Given the description of an element on the screen output the (x, y) to click on. 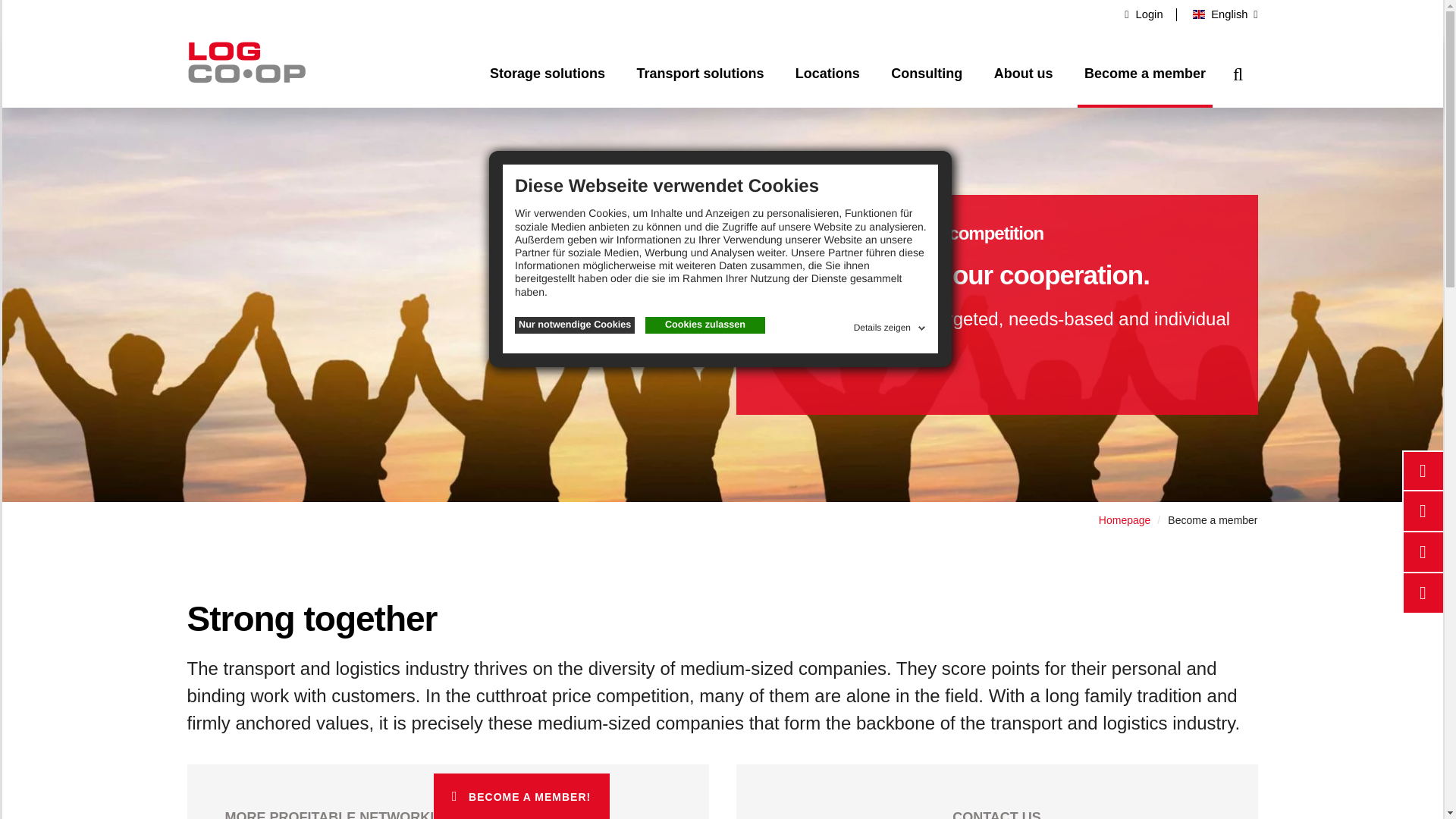
0 (1421, 634)
Details zeigen (890, 324)
Cookies zulassen (705, 324)
Nur notwendige Cookies (574, 324)
